Given the description of an element on the screen output the (x, y) to click on. 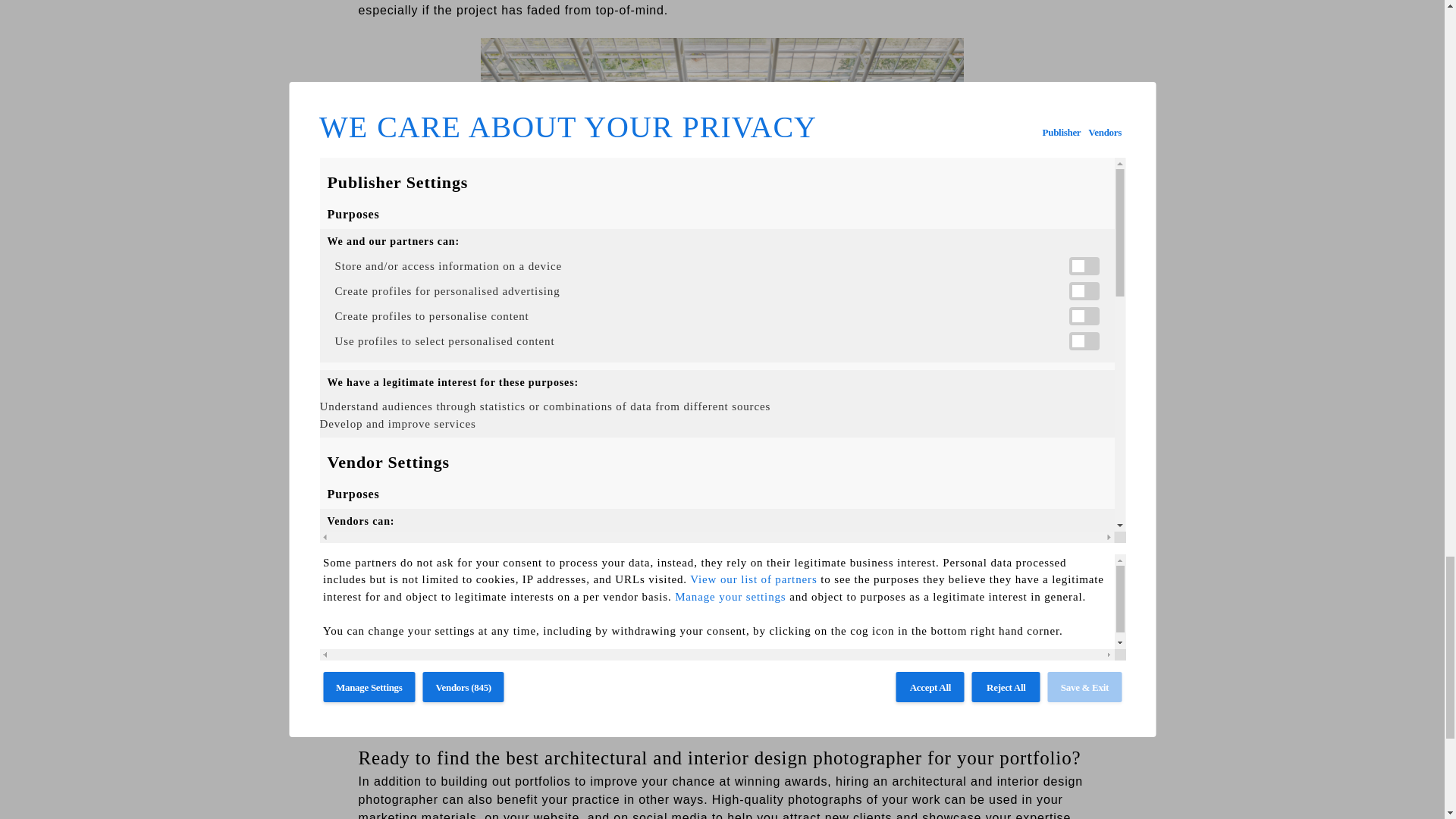
according to the AIA (418, 588)
